Given the description of an element on the screen output the (x, y) to click on. 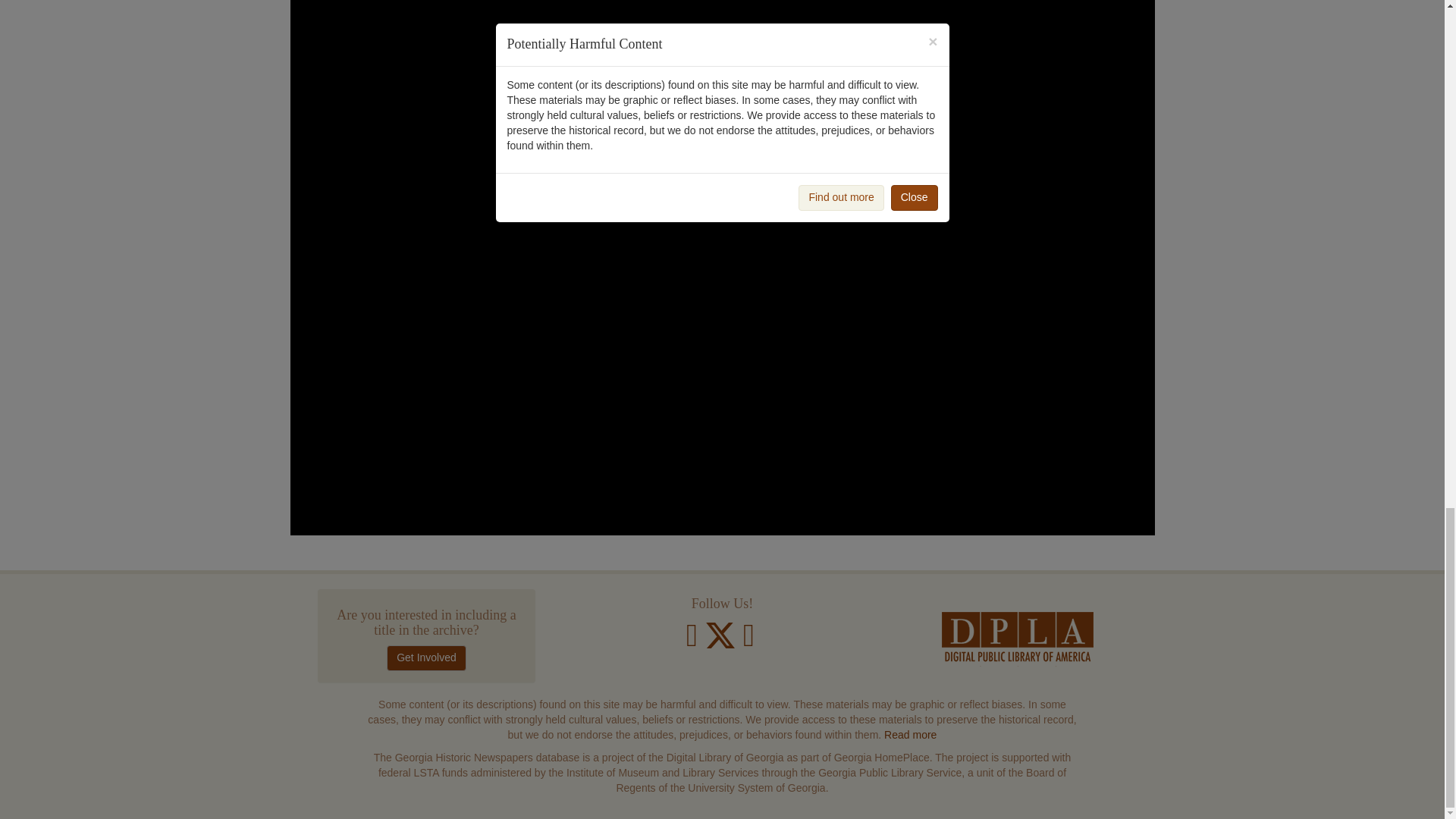
DLG Facebook Link (691, 642)
DLG Twitter Link (721, 642)
DPLA Link (1017, 638)
DLG Blog (748, 642)
